Given the description of an element on the screen output the (x, y) to click on. 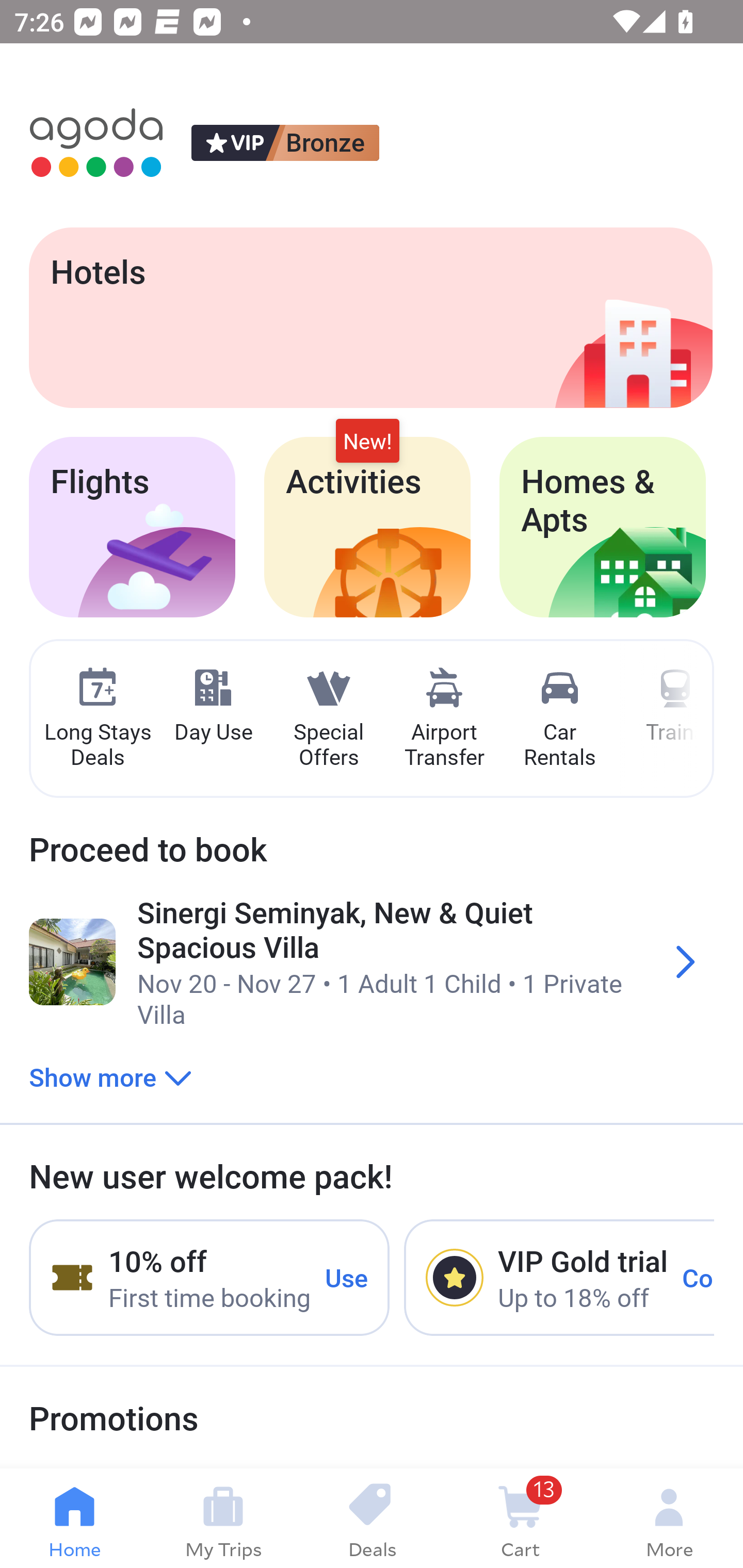
Hotels (370, 317)
New! (367, 441)
Flights (131, 527)
Activities (367, 527)
Homes & Apts (602, 527)
Day Use (213, 706)
Long Stays Deals (97, 718)
Special Offers (328, 718)
Airport Transfer (444, 718)
Car Rentals (559, 718)
Show more (110, 1076)
Use (346, 1277)
Home (74, 1518)
My Trips (222, 1518)
Deals (371, 1518)
13 Cart (519, 1518)
More (668, 1518)
